Given the description of an element on the screen output the (x, y) to click on. 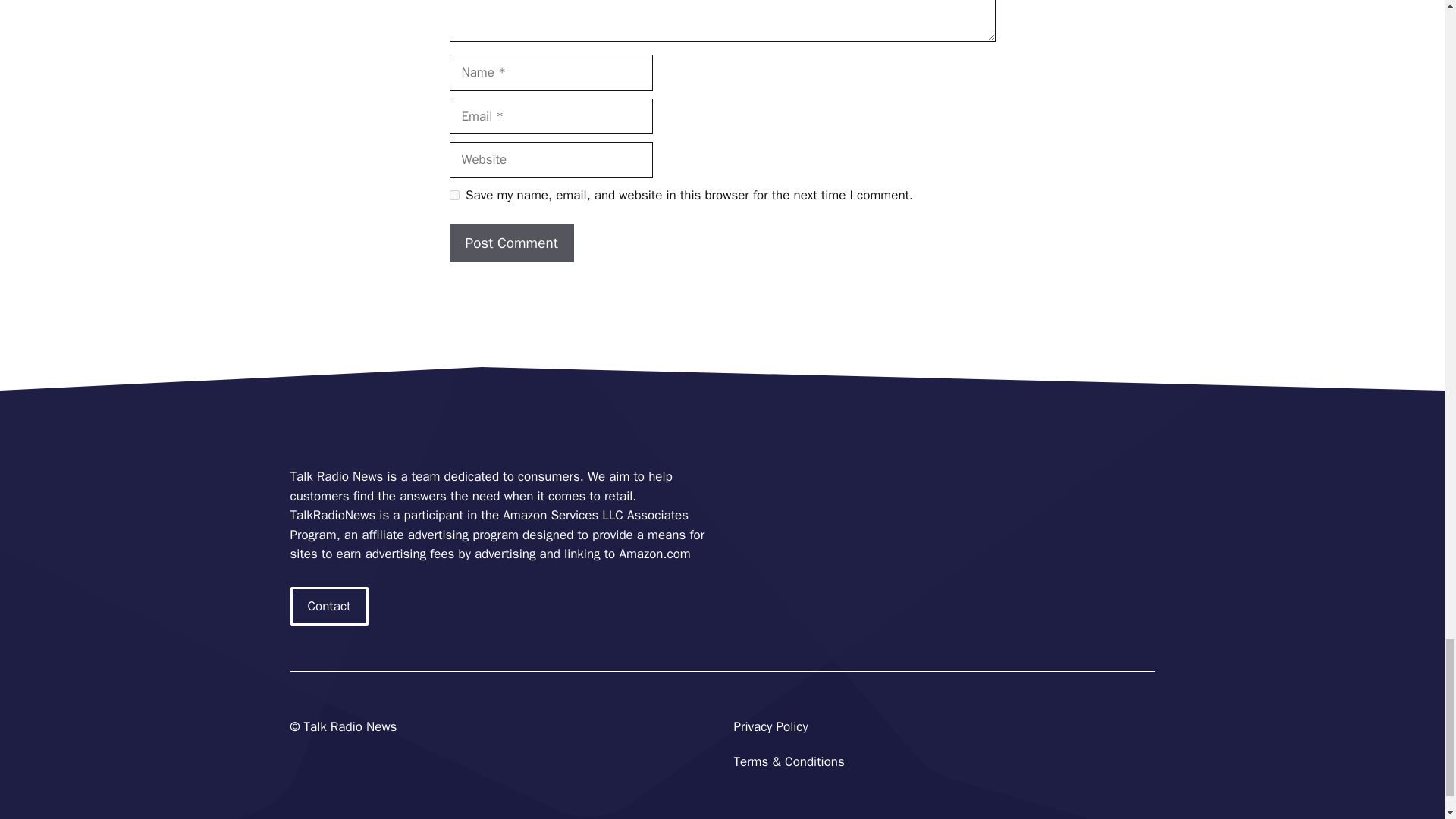
Post Comment (510, 243)
yes (453, 194)
Contact (328, 606)
Post Comment (510, 243)
Privacy Policy (770, 726)
